Given the description of an element on the screen output the (x, y) to click on. 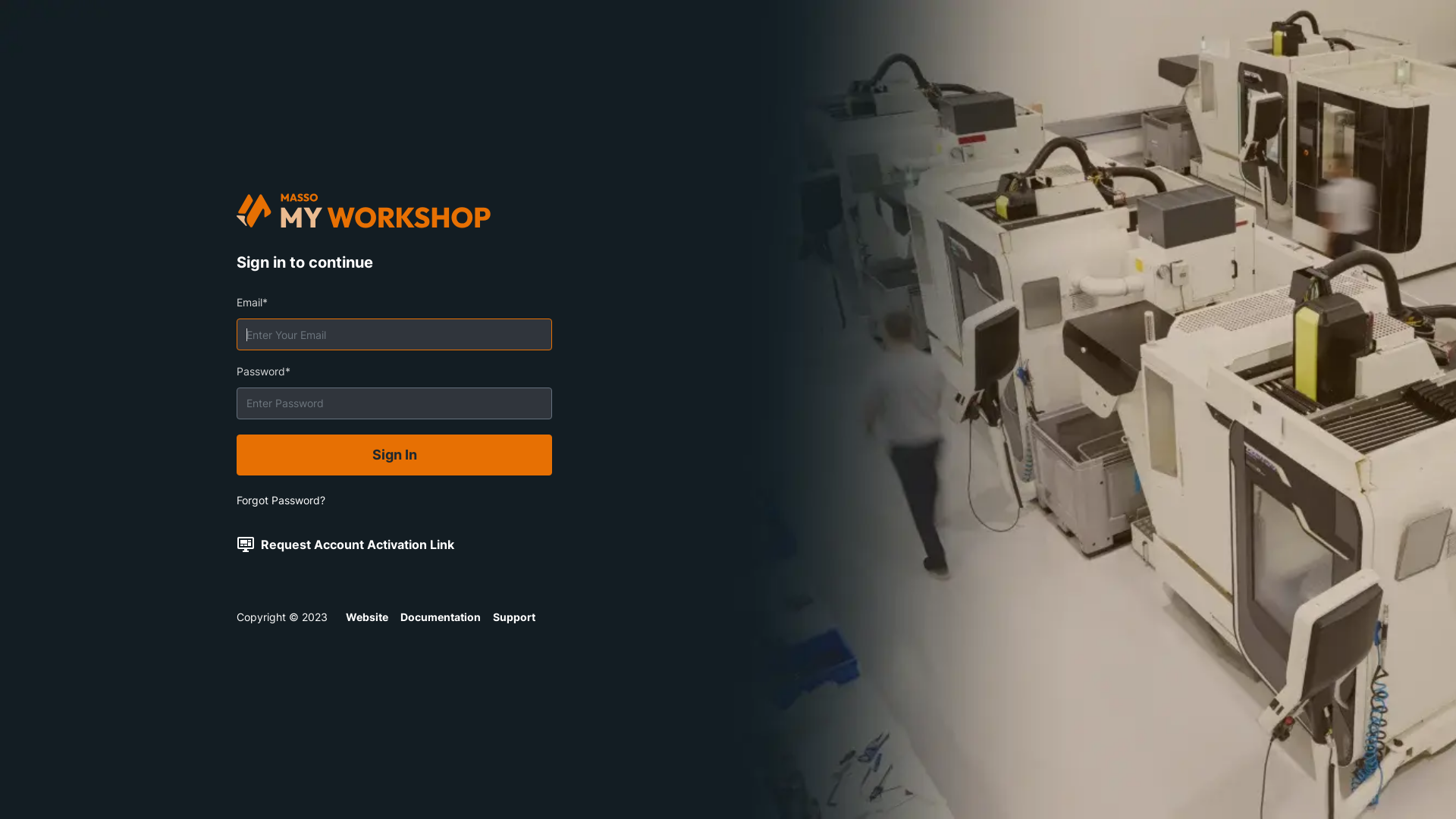
Sign In Element type: text (394, 454)
Request Account Activation Link Element type: text (357, 544)
Support Element type: text (513, 616)
Website Element type: text (366, 616)
Documentation Element type: text (440, 616)
Forgot Password? Element type: text (280, 500)
